Given the description of an element on the screen output the (x, y) to click on. 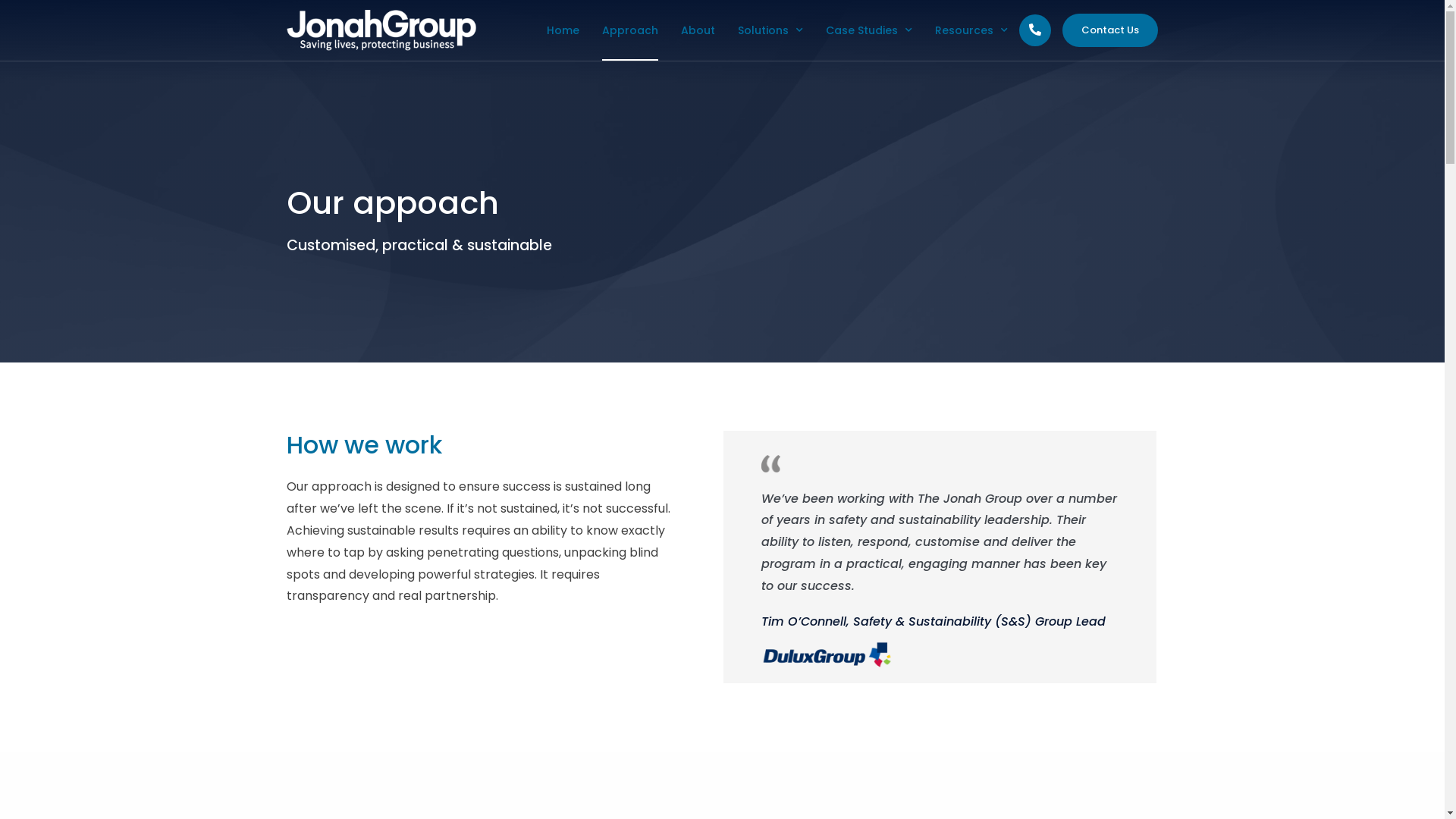
Home Element type: text (562, 30)
Case Studies Element type: text (868, 30)
About Element type: text (697, 30)
Approach Element type: text (630, 30)
Resources Element type: text (971, 30)
Contact Us Element type: text (1109, 30)
Solutions Element type: text (770, 30)
